Given the description of an element on the screen output the (x, y) to click on. 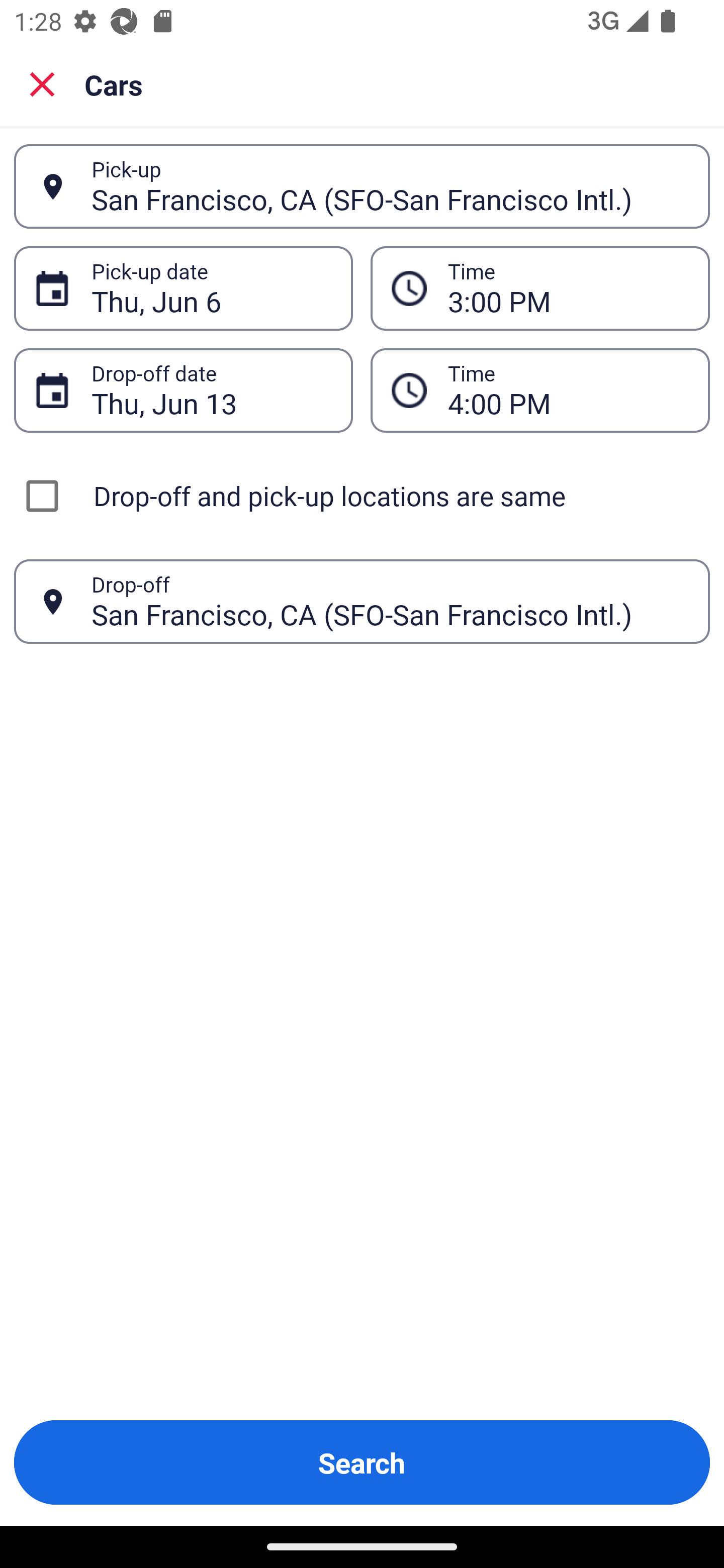
Close search screen (42, 84)
San Francisco, CA (SFO-San Francisco Intl.) (389, 186)
Thu, Jun 6 (211, 288)
3:00 PM (568, 288)
Thu, Jun 13 (211, 390)
4:00 PM (568, 390)
Drop-off and pick-up locations are same (361, 495)
San Francisco, CA (SFO-San Francisco Intl.) (389, 601)
Search Button Search (361, 1462)
